Given the description of an element on the screen output the (x, y) to click on. 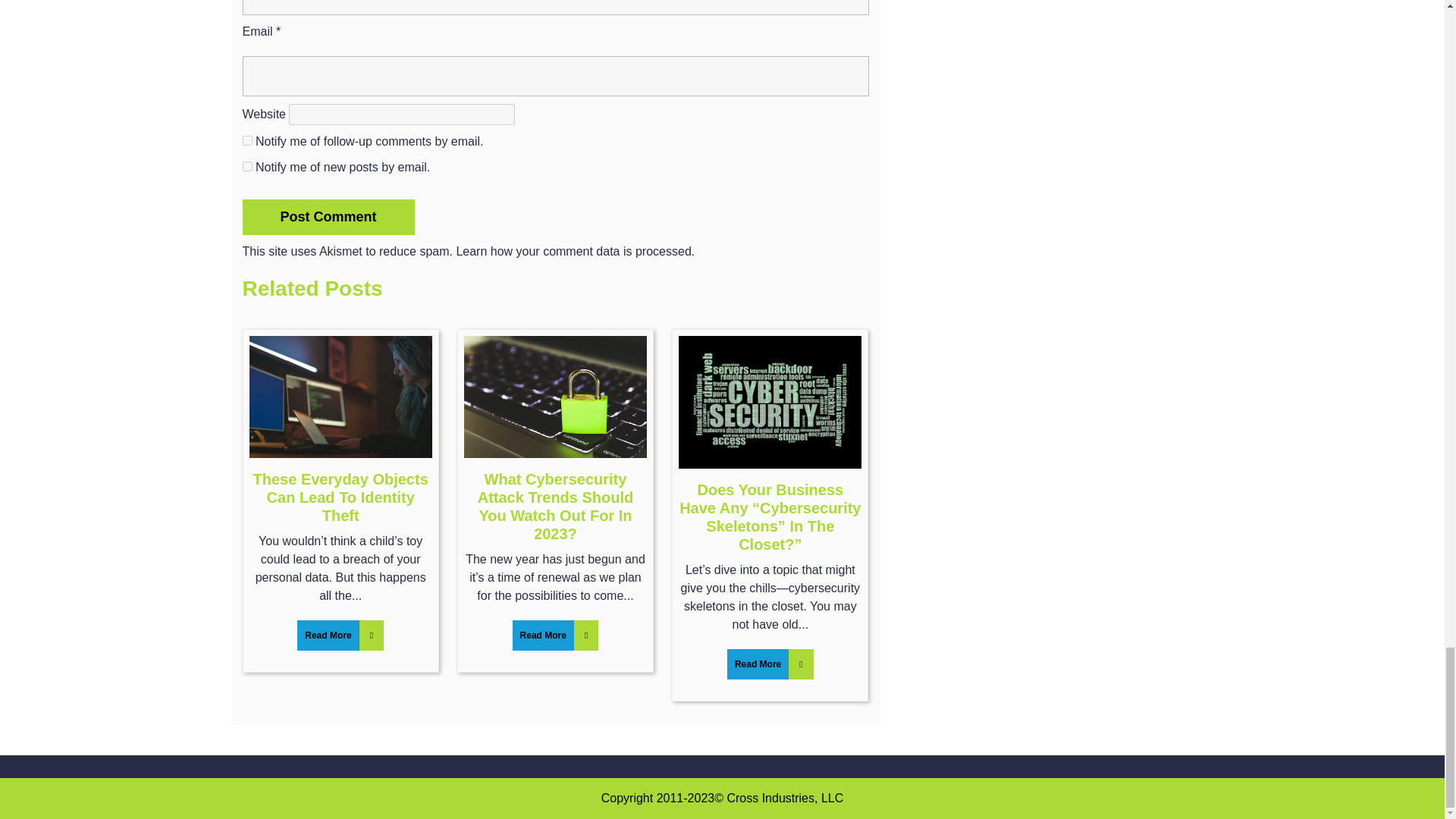
Post Comment (328, 217)
subscribe (247, 140)
subscribe (247, 166)
